Given the description of an element on the screen output the (x, y) to click on. 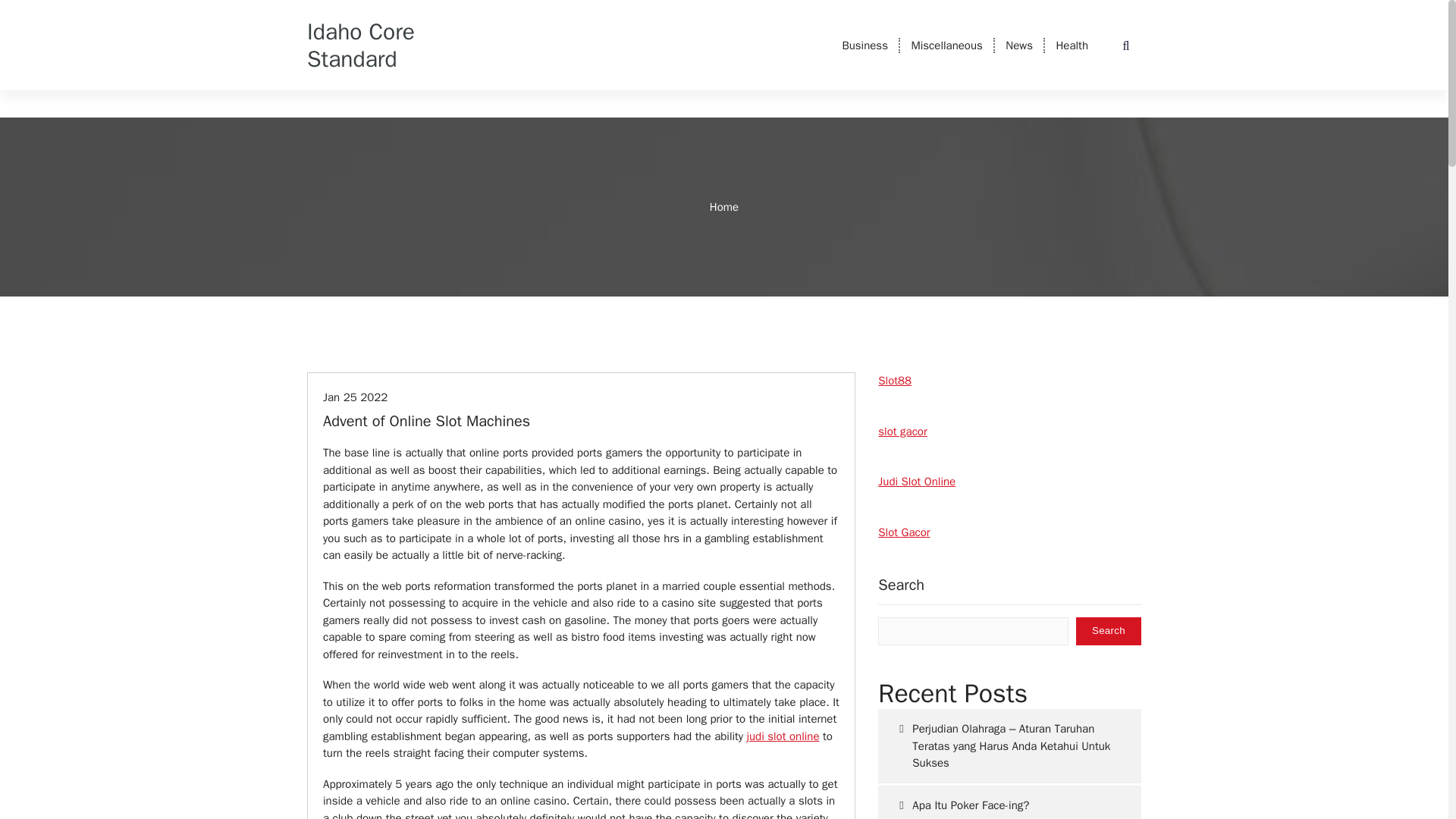
judi slot online (782, 735)
Advent of Online Slot Machines (426, 420)
News (1018, 45)
Health (1071, 45)
Business (864, 45)
Health (1071, 45)
Miscellaneous (946, 45)
Idaho Core Standard (366, 45)
News (1018, 45)
Jan 25 2022 (355, 397)
Miscellaneous (946, 45)
Home (724, 206)
Business (864, 45)
